Given the description of an element on the screen output the (x, y) to click on. 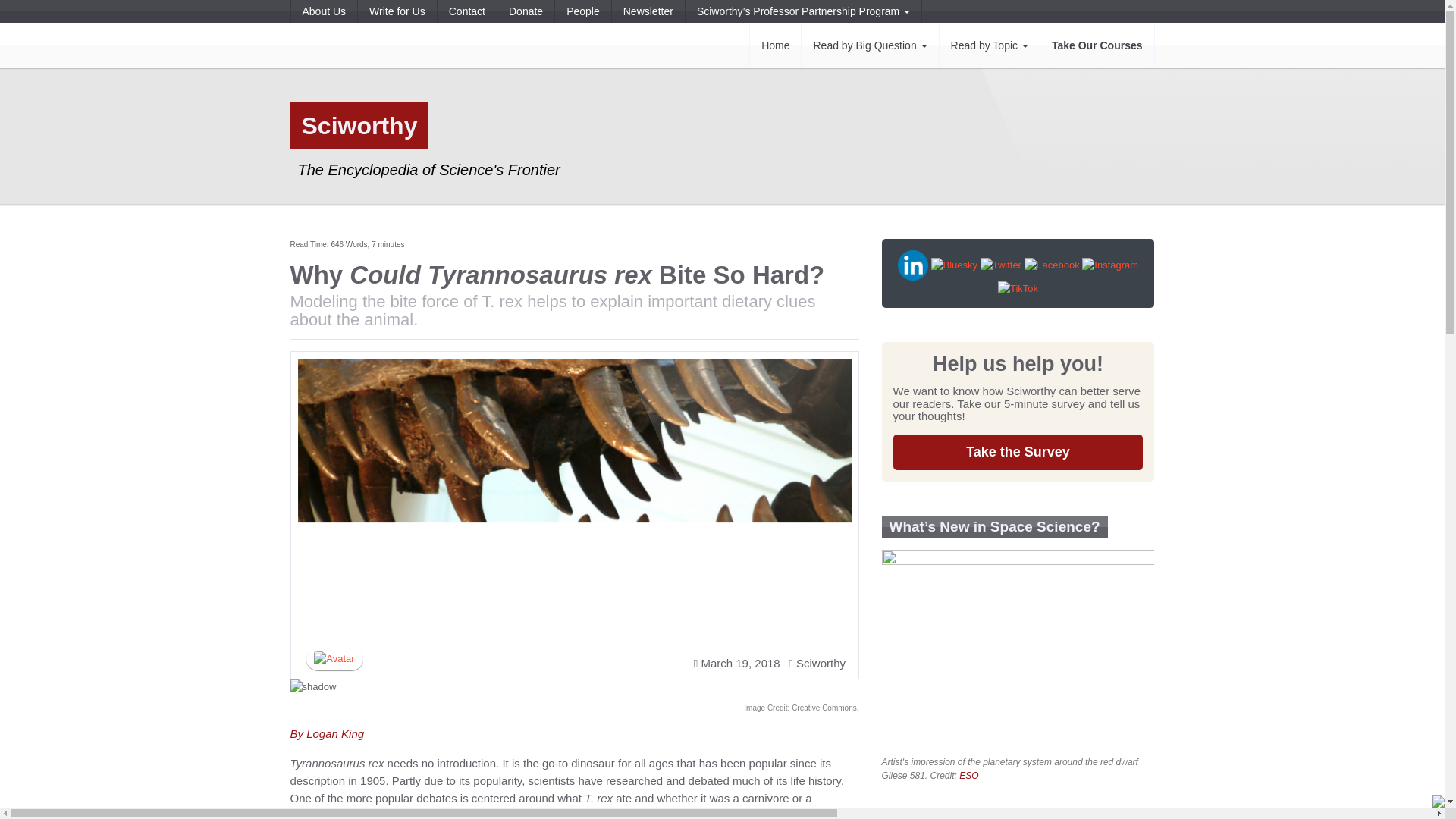
Write for Us (397, 11)
People (582, 11)
Donate (525, 11)
Donate (525, 11)
Home (775, 44)
People (582, 11)
Write for Us (397, 11)
Newsletter (648, 11)
Home (775, 44)
